Given the description of an element on the screen output the (x, y) to click on. 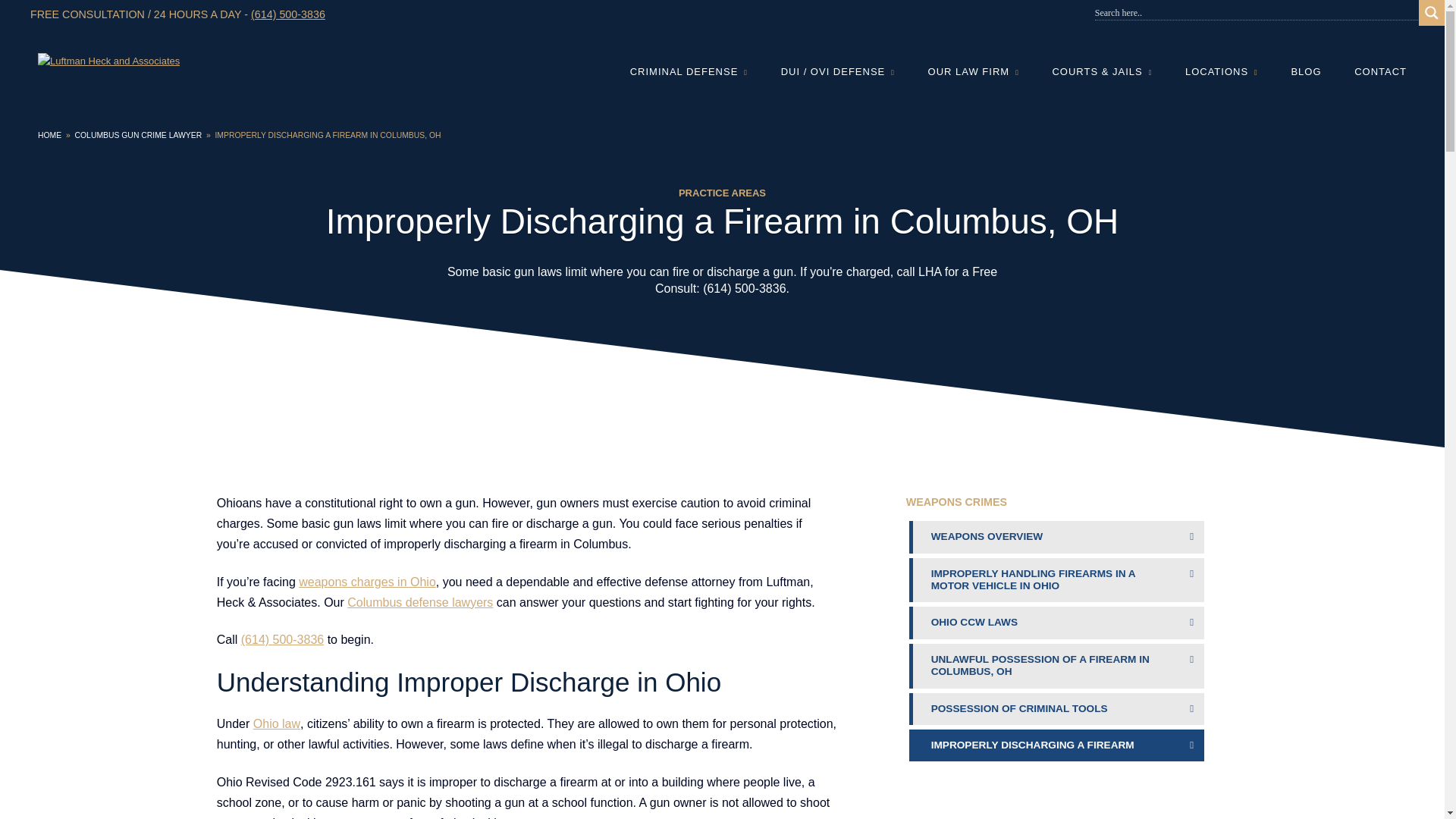
Luftman Heck and Associates (108, 60)
Luftman, Heck and Associates (287, 14)
Luftman, Heck and Associates (744, 287)
OUR LAW FIRM (972, 71)
CRIMINAL DEFENSE (696, 71)
Luftman Heck and Associates (282, 639)
